Given the description of an element on the screen output the (x, y) to click on. 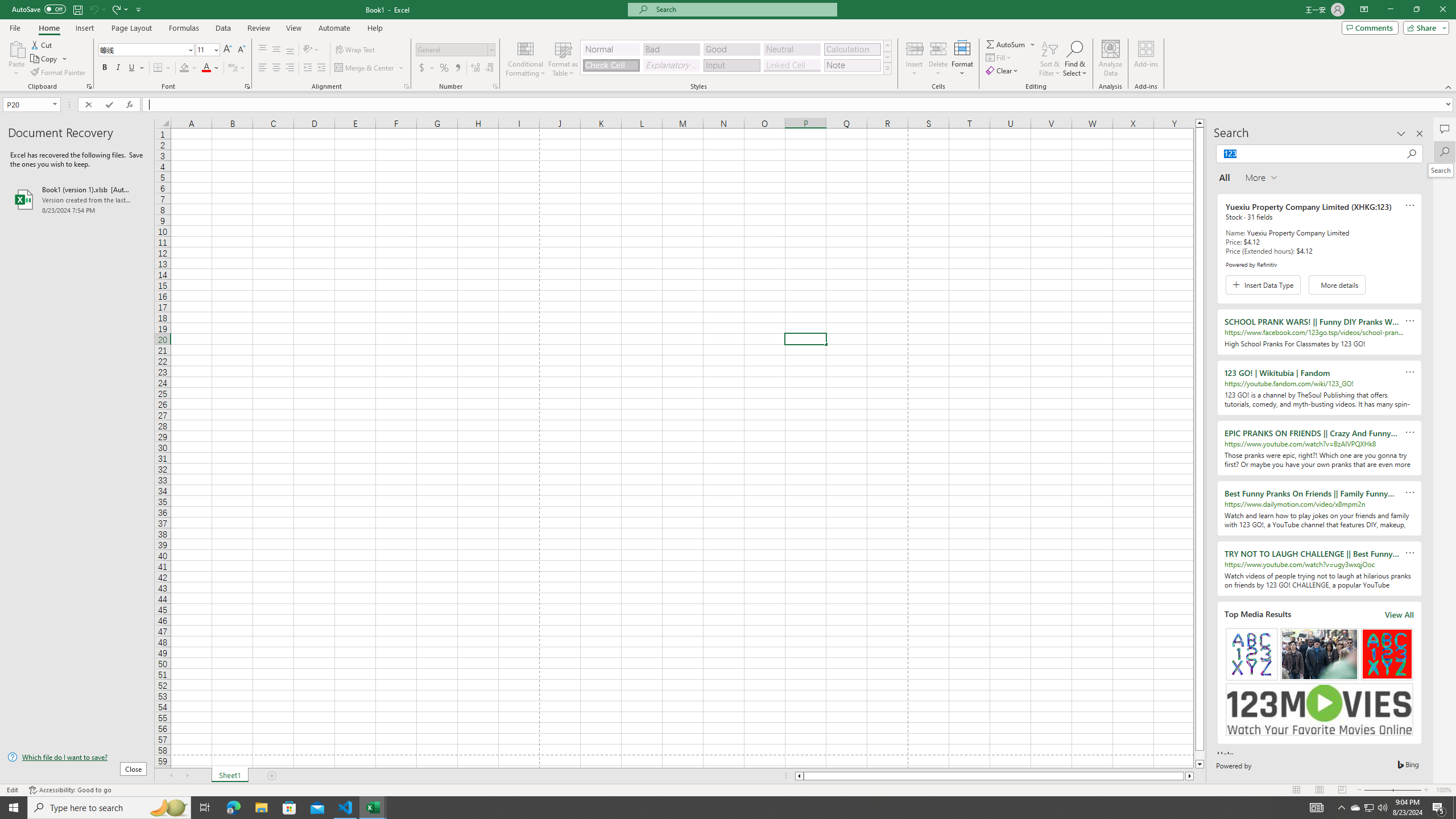
Office Clipboard... (88, 85)
Good (731, 49)
Decrease Font Size (240, 49)
Show Phonetic Field (236, 67)
Format as Table (563, 58)
Check Cell (611, 65)
